Given the description of an element on the screen output the (x, y) to click on. 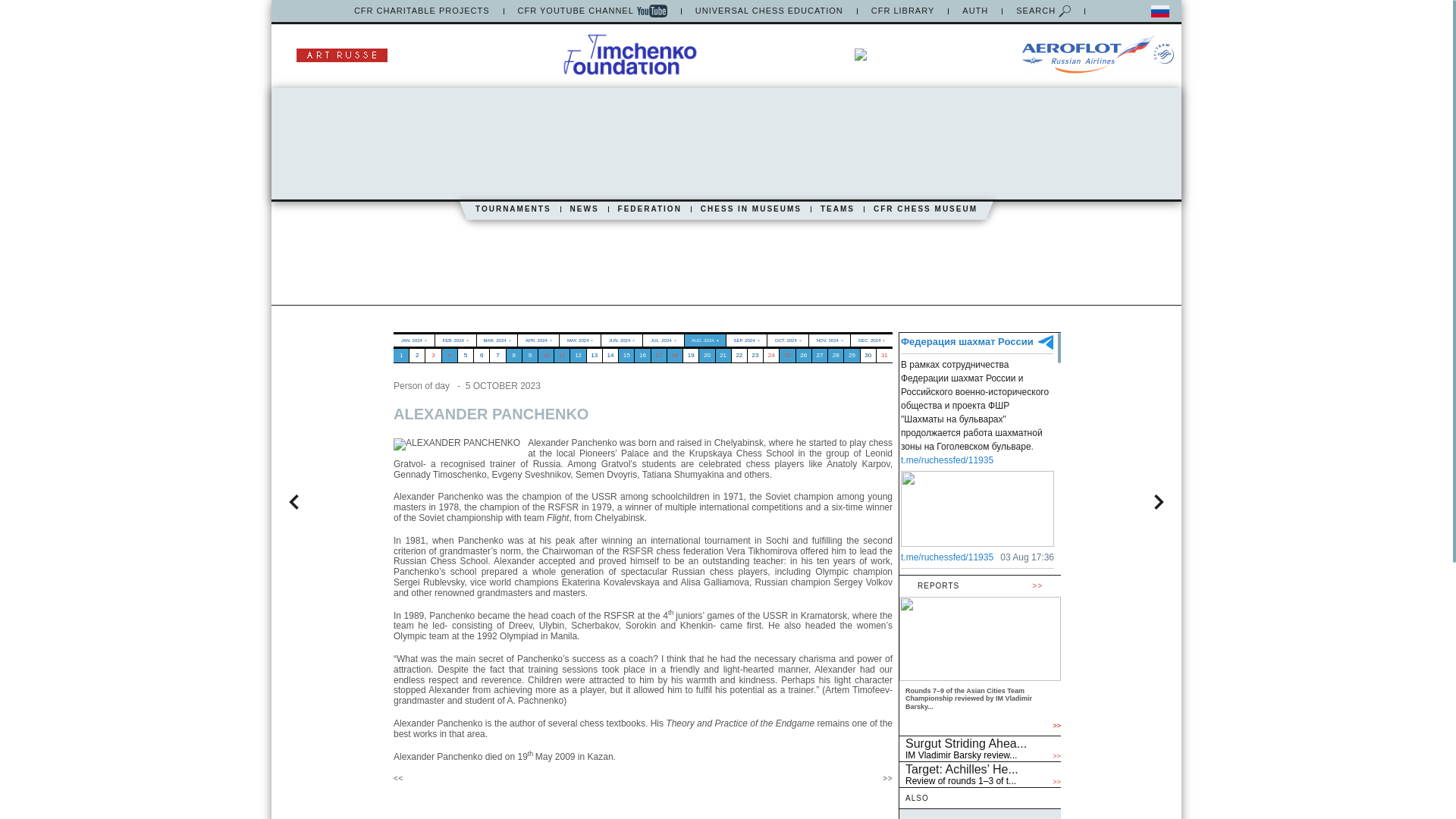
CHESS IN MUSEUMS (751, 208)
SEARCH (1043, 10)
JAN. 2024 (413, 340)
CFR YOUTUBE CHANNEL (592, 11)
UNIVERSAL CHESS EDUCATION (769, 10)
NEWS (584, 208)
FEDERATION (649, 208)
CFR CHARITABLE PROJECTS (421, 10)
MAY. 2024 (579, 340)
TEAMS (837, 208)
TOURNAMENTS (513, 208)
FEB. 2024 (455, 340)
CFR LIBRARY (902, 10)
CFR CHESS MUSEUM (924, 208)
MAR. 2024 (497, 340)
